Given the description of an element on the screen output the (x, y) to click on. 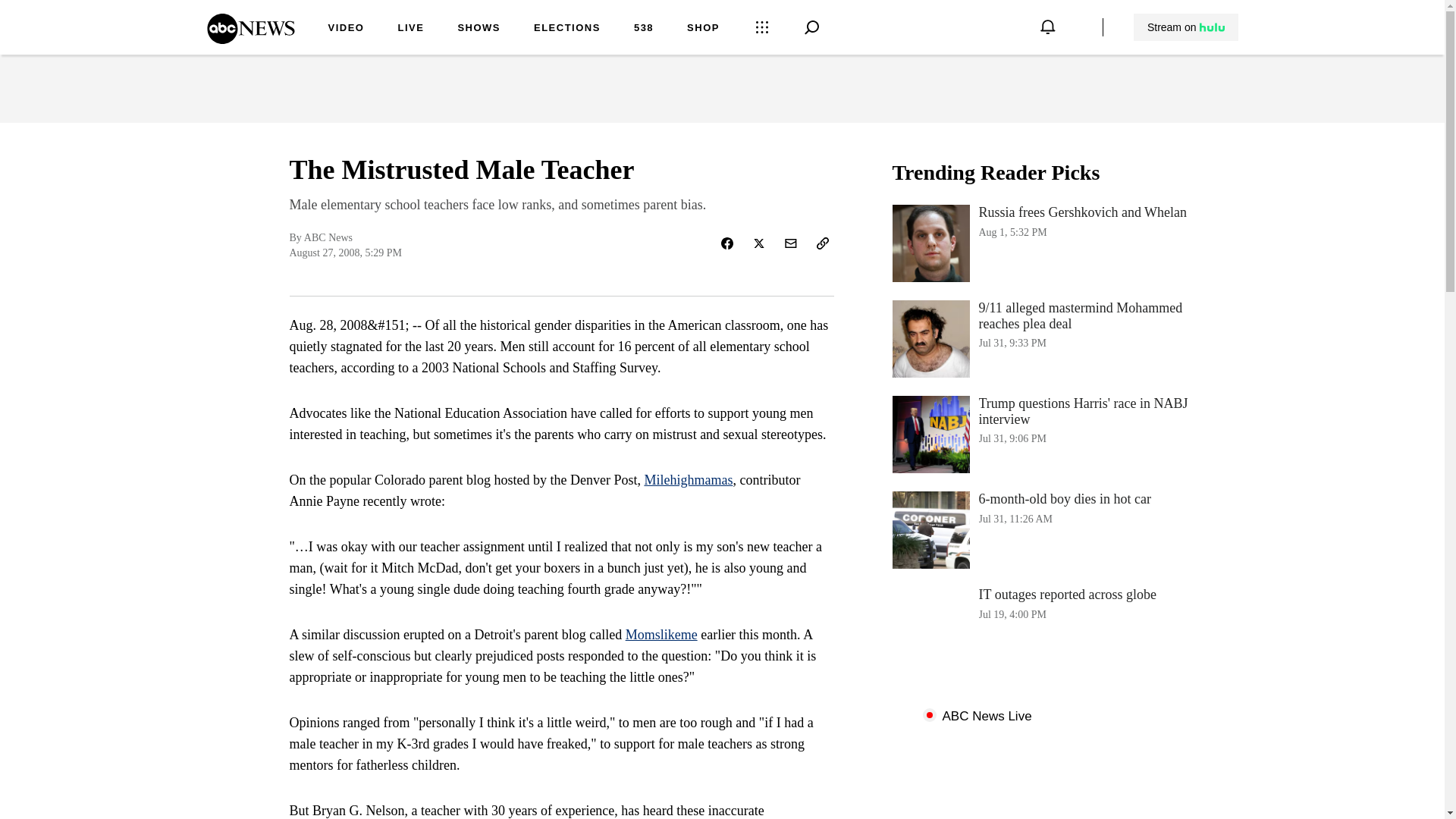
ELECTIONS (566, 28)
VIDEO (345, 28)
Milehighmamas (1043, 625)
Stream on (687, 479)
Momslikeme (1186, 26)
538 (661, 634)
SHOP (1043, 529)
SHOWS (1043, 242)
ABC News (643, 28)
LIVE (703, 28)
Stream on (478, 28)
